Given the description of an element on the screen output the (x, y) to click on. 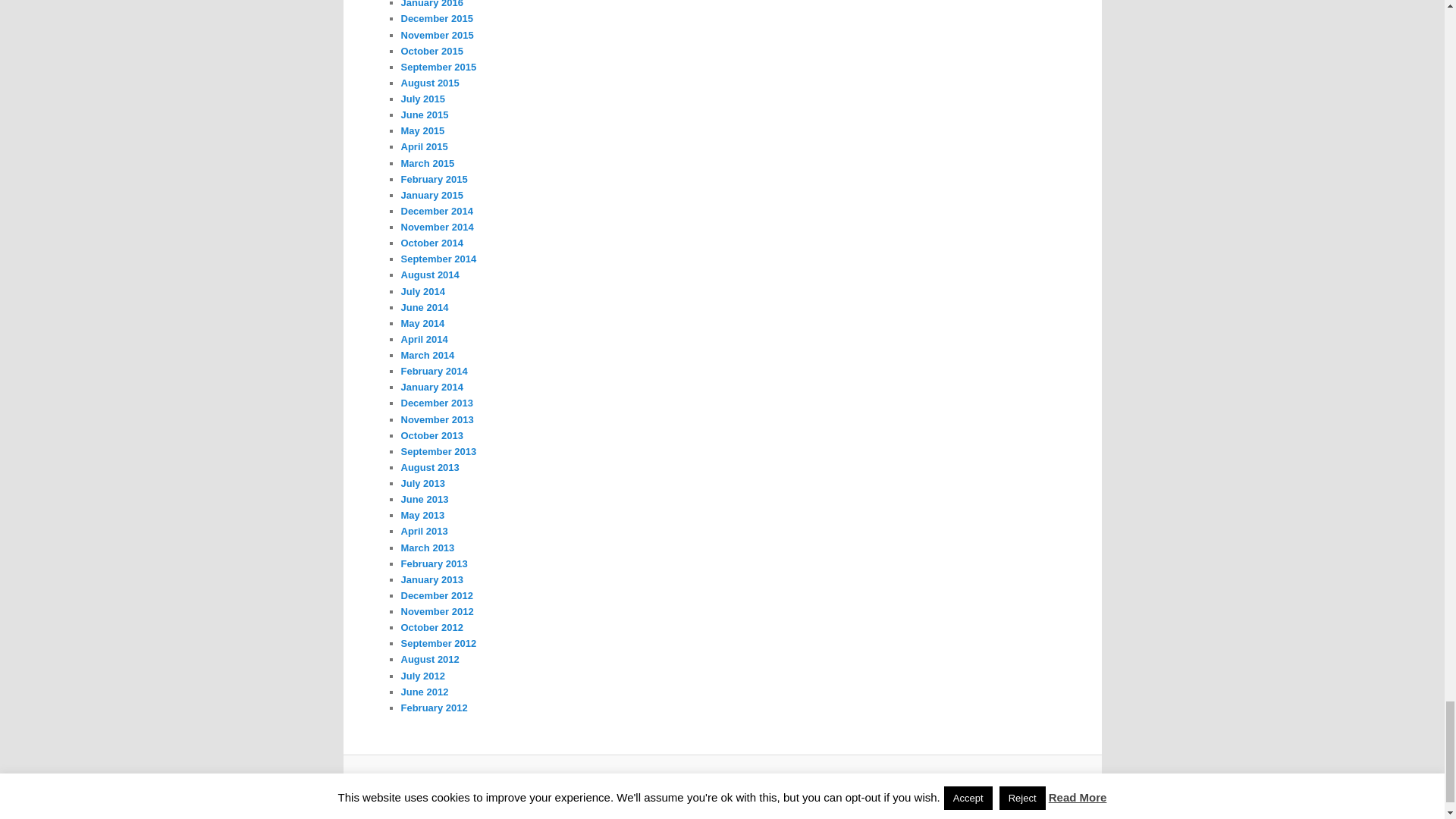
Semantic Personal Publishing Platform (749, 784)
